Given the description of an element on the screen output the (x, y) to click on. 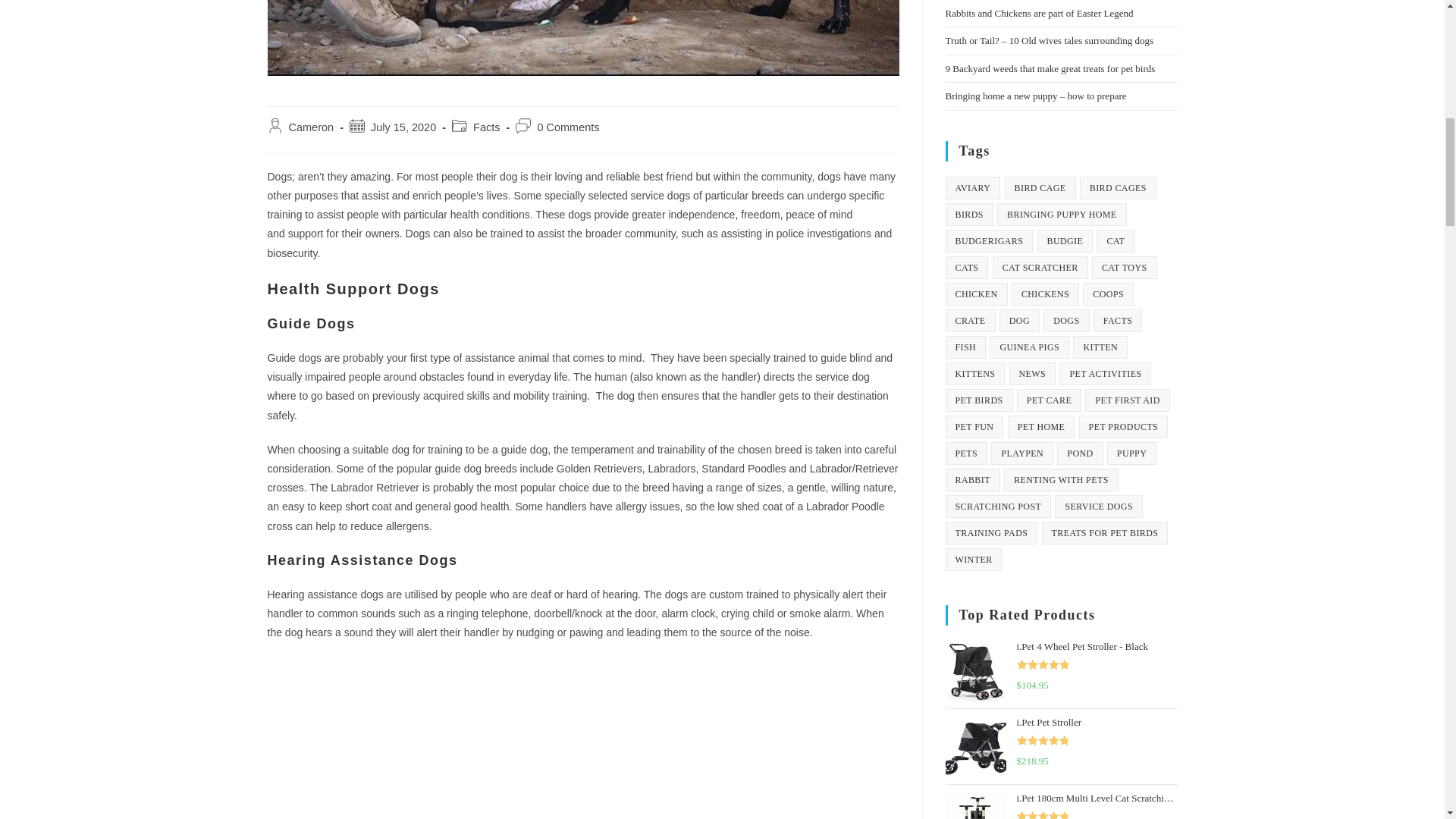
Posts by Cameron (310, 127)
service dog (582, 38)
service dog (582, 738)
